Given the description of an element on the screen output the (x, y) to click on. 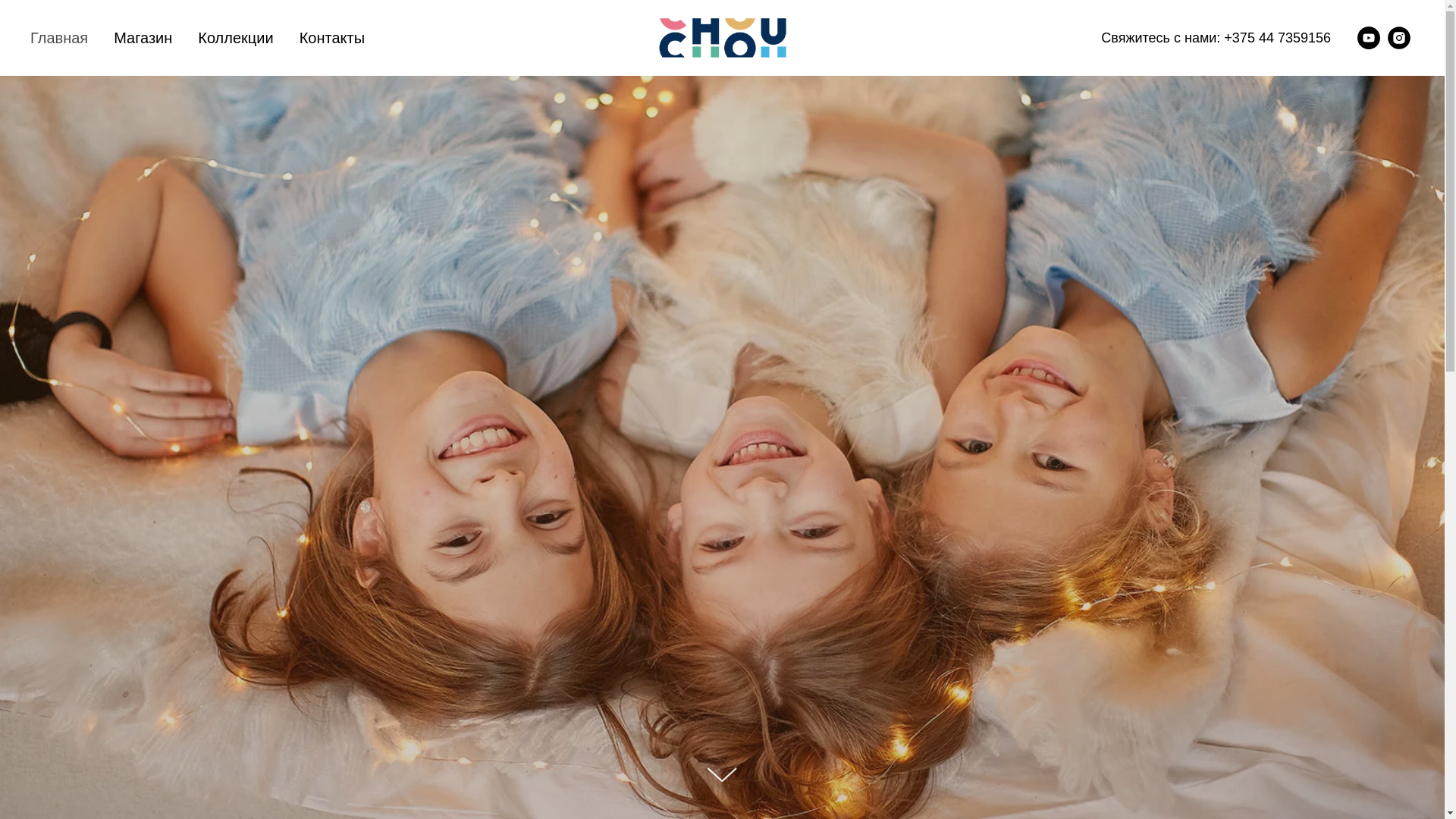
Instagram Element type: text (1398, 37)
Youtube Element type: text (1368, 37)
+375 44 7359156 Element type: text (1276, 37)
